Given the description of an element on the screen output the (x, y) to click on. 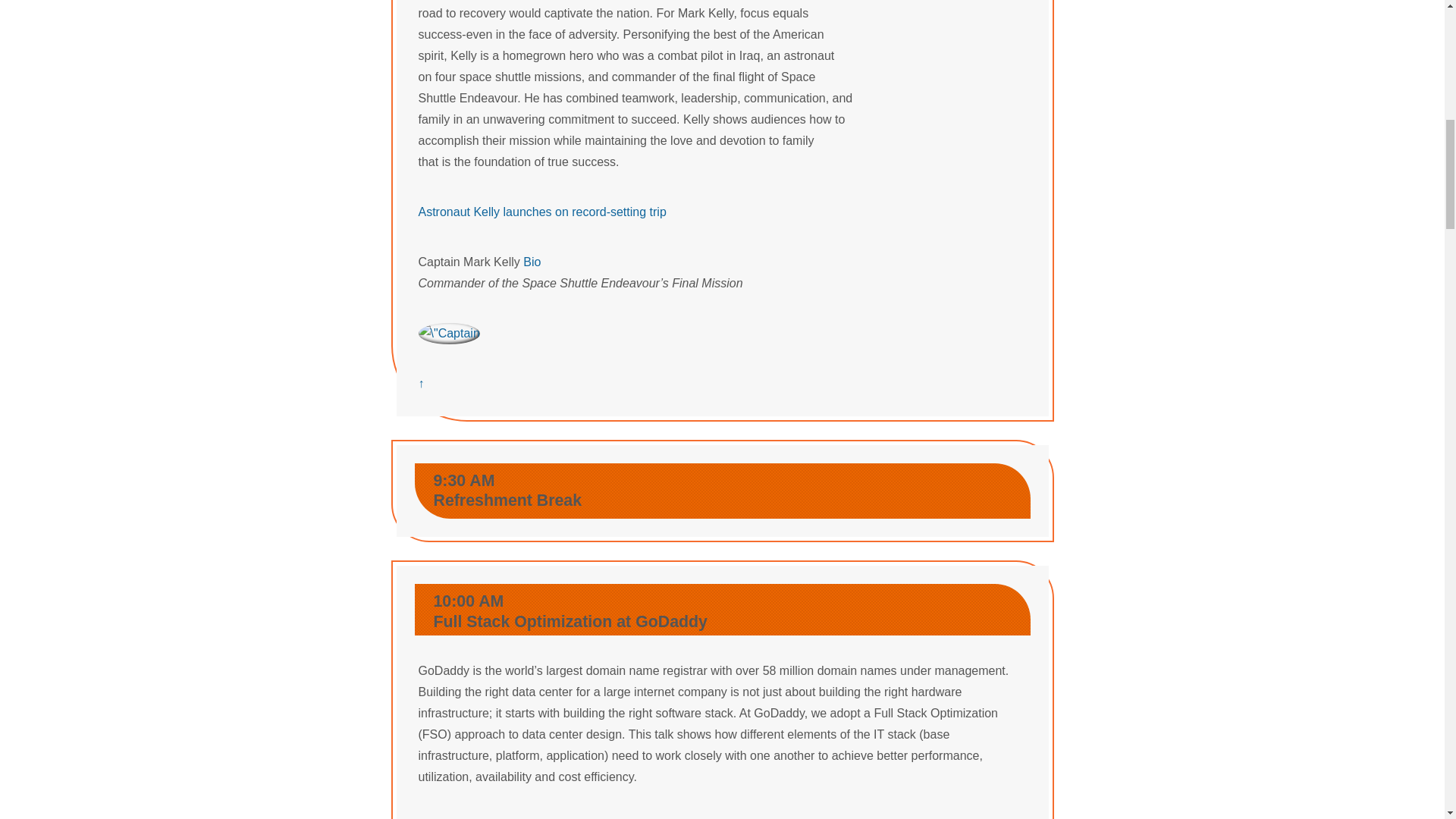
Astronaut Kelly launches on record-setting trip (542, 211)
Bio (531, 261)
